Given the description of an element on the screen output the (x, y) to click on. 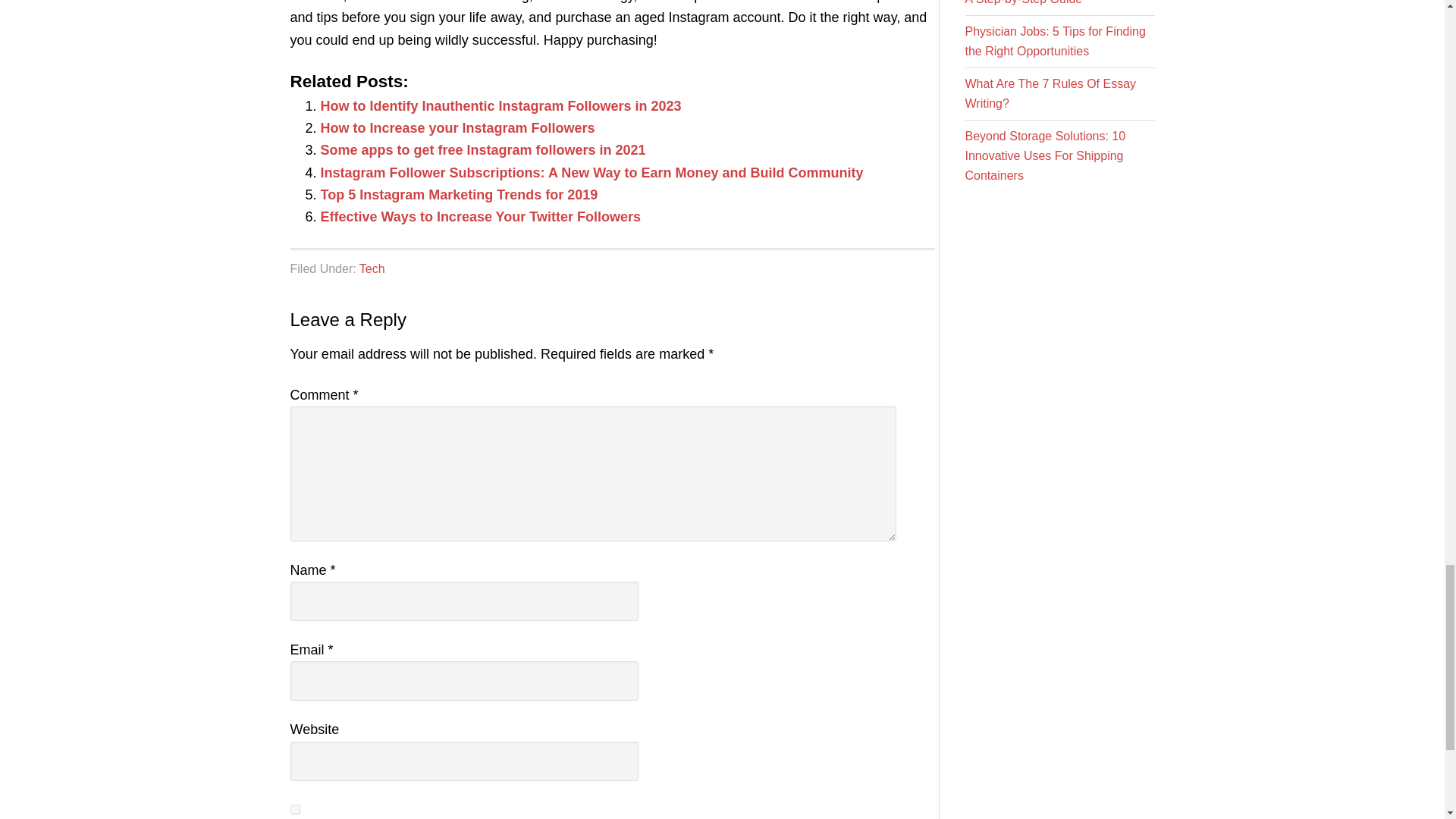
Tech (372, 268)
Top 5 Instagram Marketing Trends for 2019 (458, 194)
How to Identify Inauthentic Instagram Followers in 2023 (500, 105)
Top 5 Instagram Marketing Trends for 2019 (458, 194)
Some apps to get free Instagram followers in 2021 (482, 150)
How to Increase your Instagram Followers (457, 127)
yes (294, 809)
Effective Ways to Increase Your Twitter Followers (480, 216)
Some apps to get free Instagram followers in 2021 (482, 150)
How to Identify Inauthentic Instagram Followers in 2023 (500, 105)
How to Increase your Instagram Followers (457, 127)
Effective Ways to Increase Your Twitter Followers (480, 216)
